Given the description of an element on the screen output the (x, y) to click on. 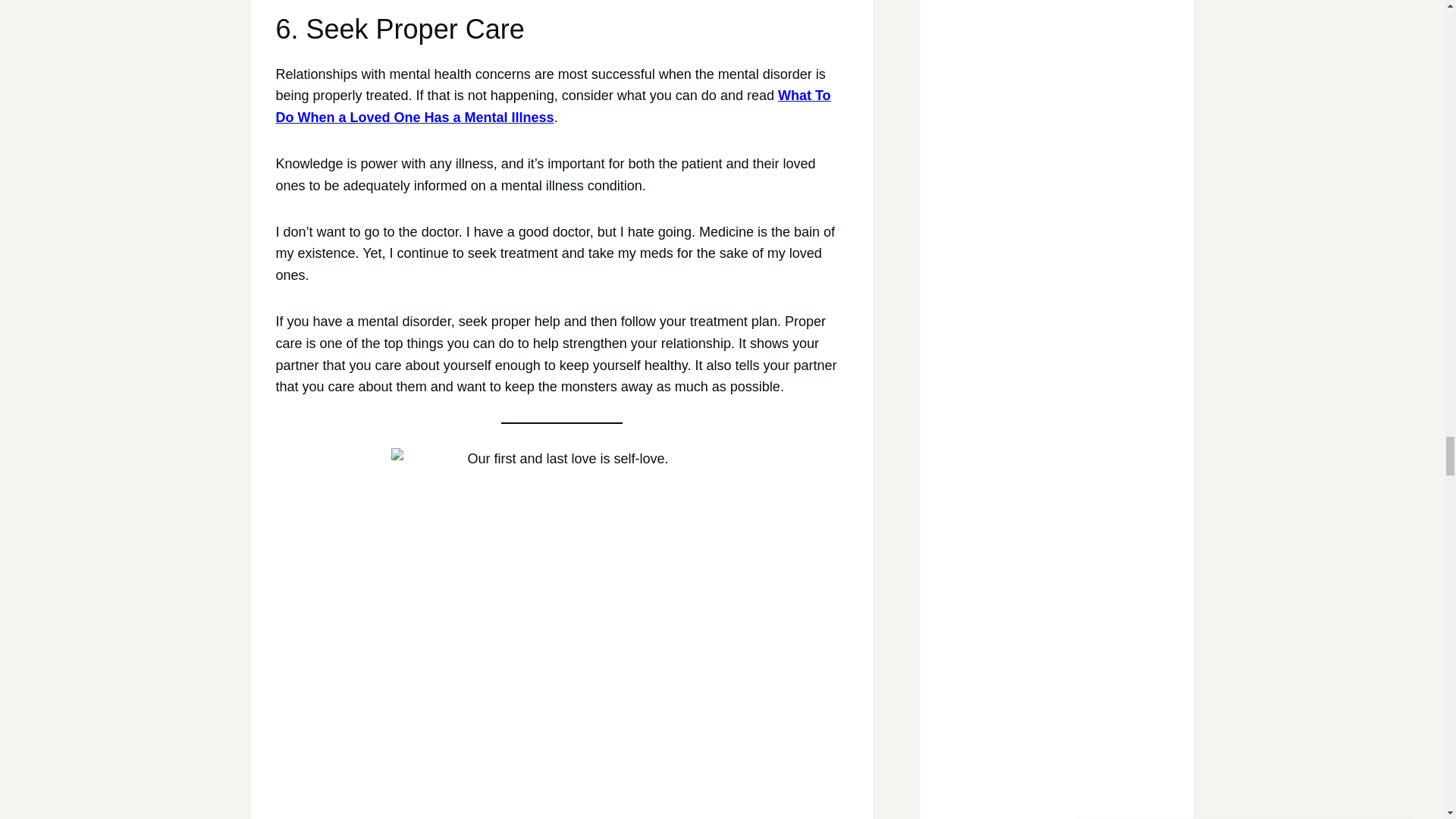
What To Do When a Loved One Has a Mental Illness (553, 106)
